Given the description of an element on the screen output the (x, y) to click on. 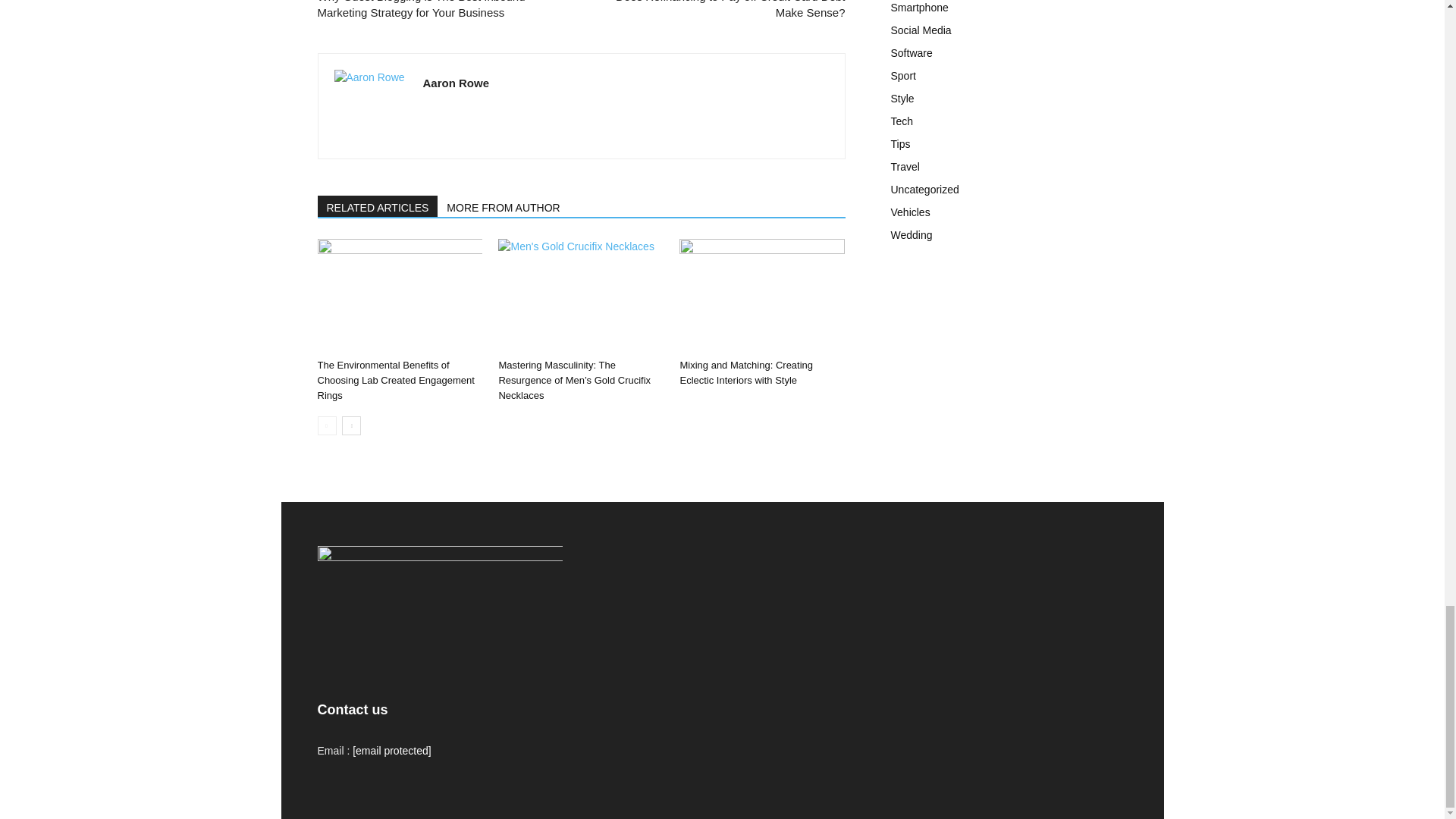
Mixing and Matching: Creating Eclectic Interiors with Style (761, 295)
Mixing and Matching: Creating Eclectic Interiors with Style (745, 372)
